Given the description of an element on the screen output the (x, y) to click on. 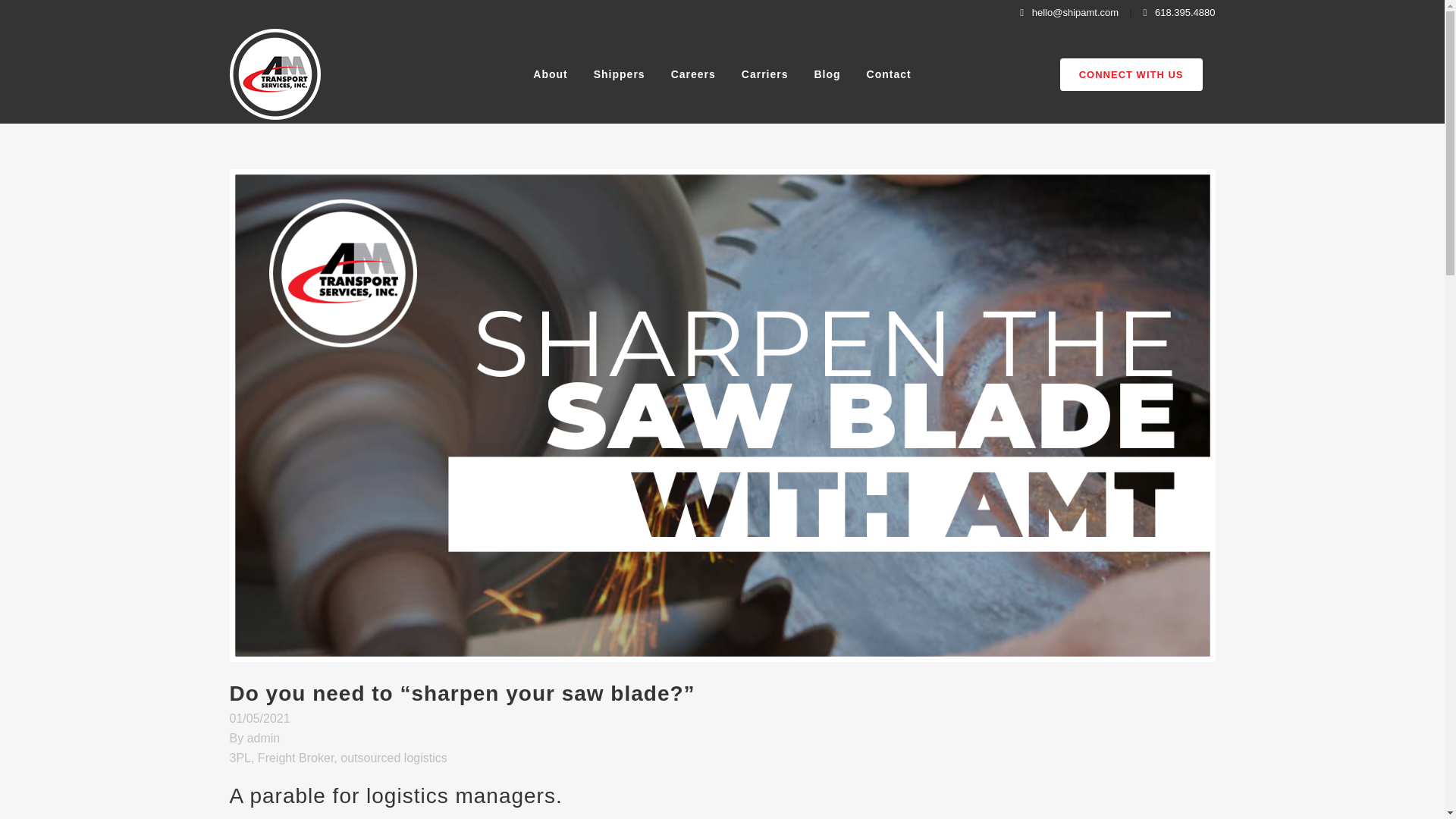
CONNECT WITH US (1130, 73)
  618.395.4880 (1178, 12)
admin (264, 738)
Freight Broker (295, 757)
outsourced logistics (393, 757)
3PL (239, 757)
